Given the description of an element on the screen output the (x, y) to click on. 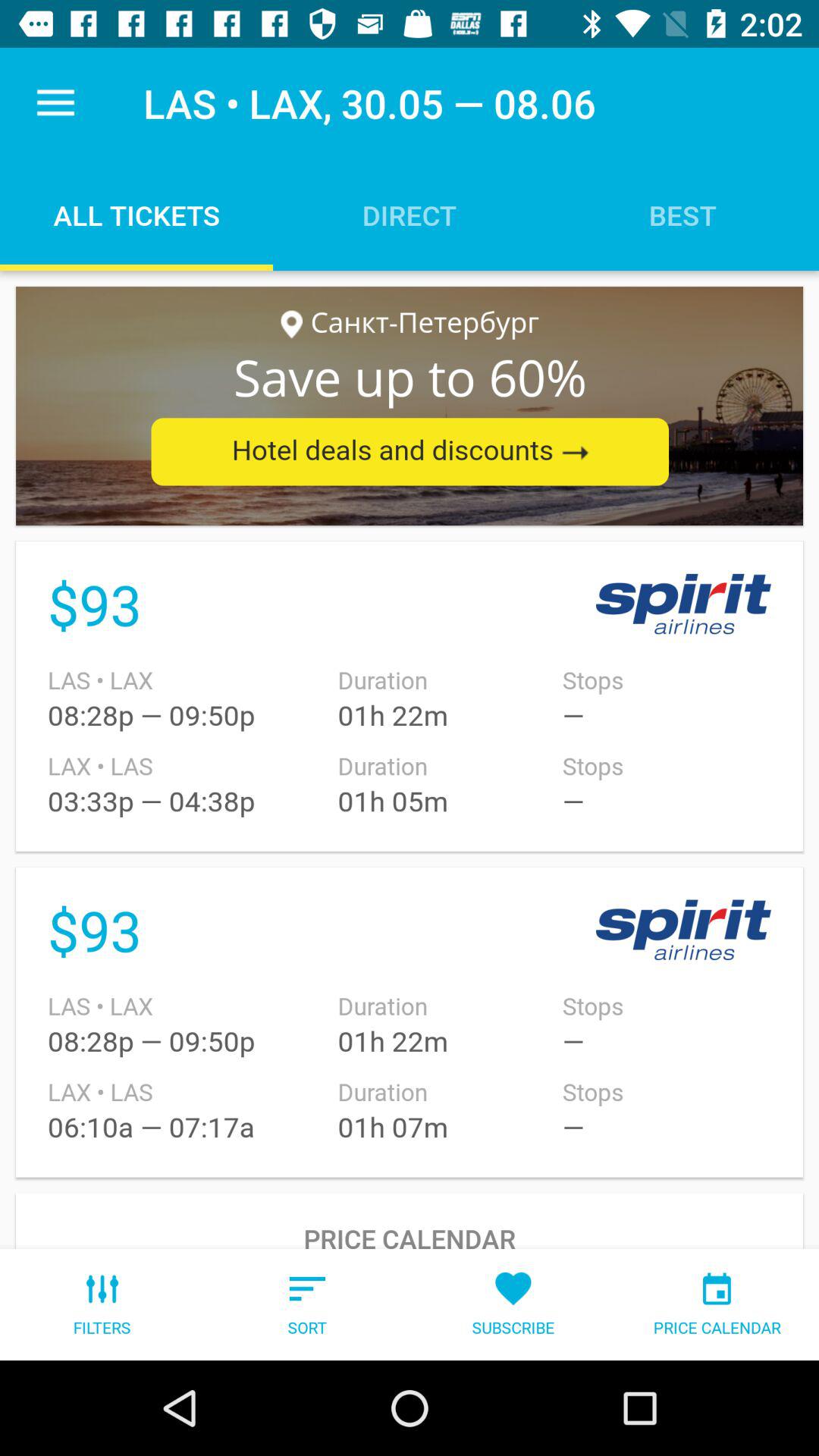
advertisement display (409, 405)
